Given the description of an element on the screen output the (x, y) to click on. 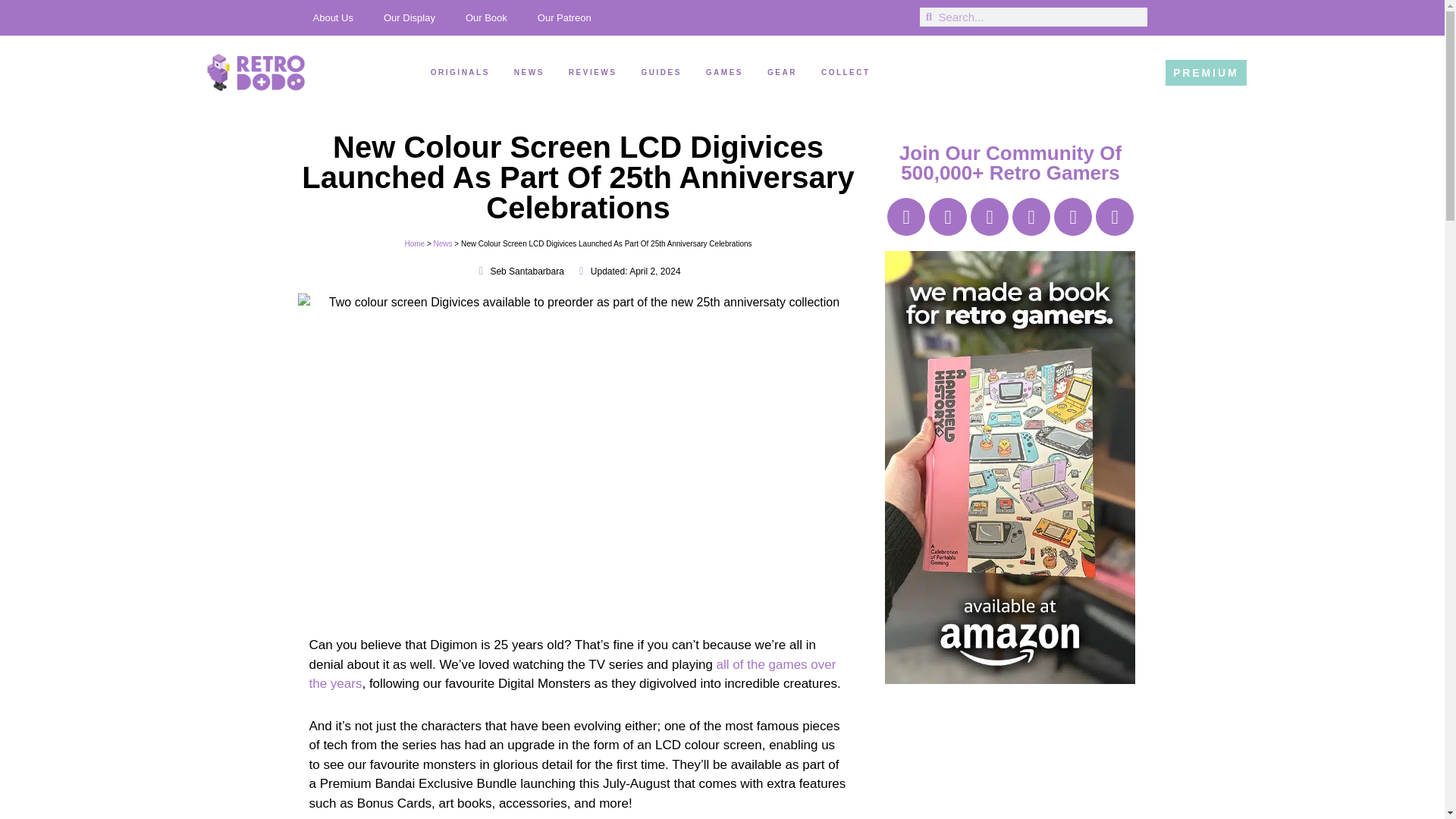
REVIEWS (593, 72)
Our Book (485, 17)
COLLECT (845, 72)
Our Display (408, 17)
GUIDES (660, 72)
GAMES (724, 72)
NEWS (528, 72)
ORIGINALS (459, 72)
GEAR (781, 72)
Our Patreon (564, 17)
About Us (332, 17)
